Given the description of an element on the screen output the (x, y) to click on. 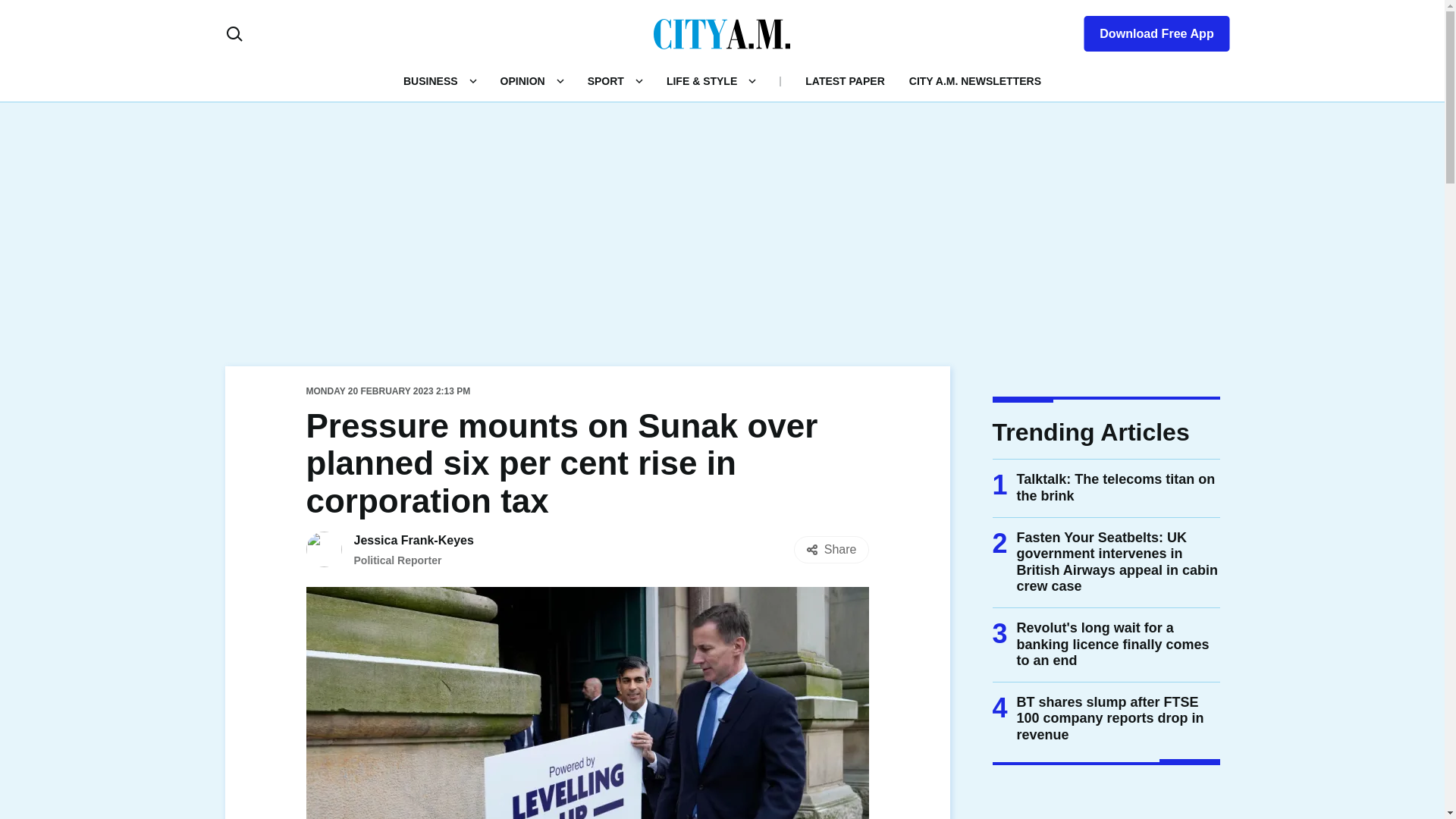
BUSINESS (430, 80)
CityAM (721, 33)
SPORT (606, 80)
OPINION (522, 80)
Download Free App (1146, 30)
